Given the description of an element on the screen output the (x, y) to click on. 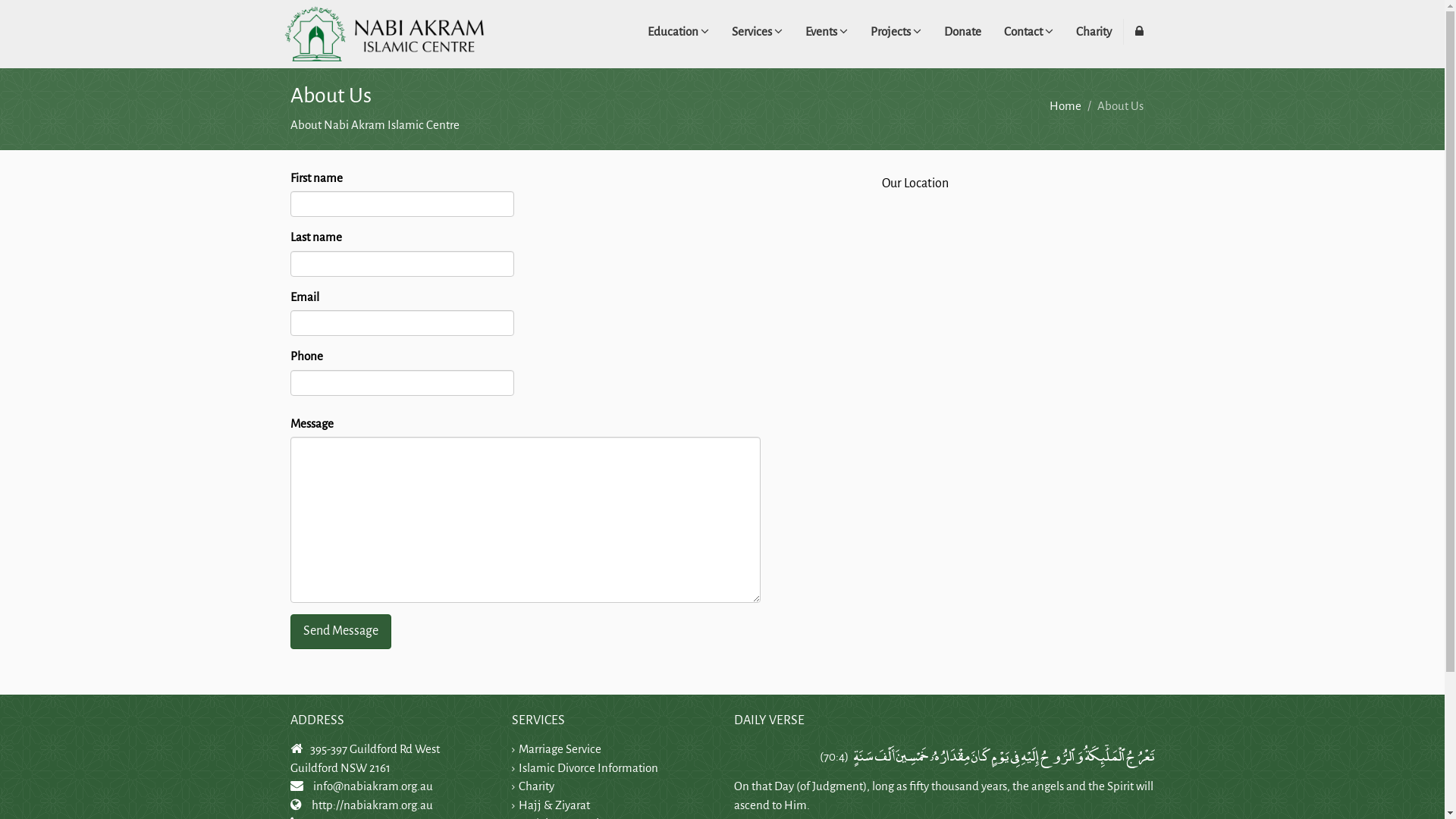
Services Element type: text (756, 31)
Donate Element type: text (962, 31)
info@nabiakram.org.au Element type: text (372, 785)
Marriage Service Element type: text (559, 748)
Projects Element type: text (894, 31)
Contact Element type: text (1027, 31)
http://nabiakram.org.au Element type: text (371, 804)
Home Element type: text (1065, 105)
Send Message Element type: text (339, 631)
Hajj & Ziyarat Element type: text (553, 804)
Events Element type: text (825, 31)
Charity Element type: text (1093, 31)
Islamic Divorce Information Element type: text (588, 767)
Charity Element type: text (536, 785)
Education Element type: text (677, 31)
